Given the description of an element on the screen output the (x, y) to click on. 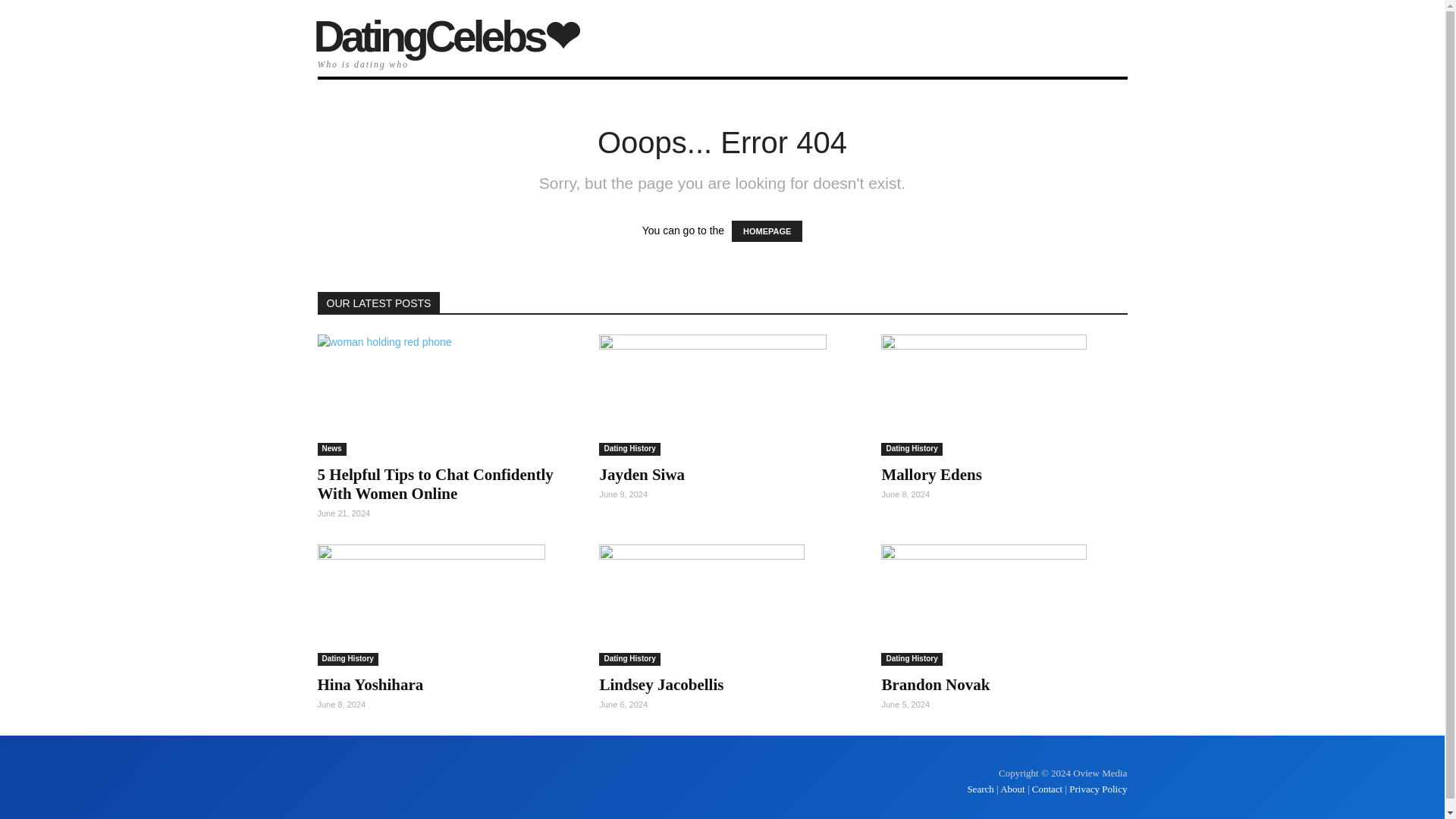
Mallory Edens (1003, 394)
About (1012, 788)
Dating History (628, 658)
Hina Yoshihara (370, 684)
Contact (1047, 788)
Jayden Siwa (641, 475)
5 Helpful Tips to Chat Confidently With Women Online (435, 484)
Privacy Policy (1097, 788)
Mallory Edens (930, 475)
Search (980, 788)
Brandon Novak (935, 684)
Jayden Siwa (641, 475)
HOMEPAGE (767, 230)
Dating History (628, 449)
Dating History (911, 449)
